Given the description of an element on the screen output the (x, y) to click on. 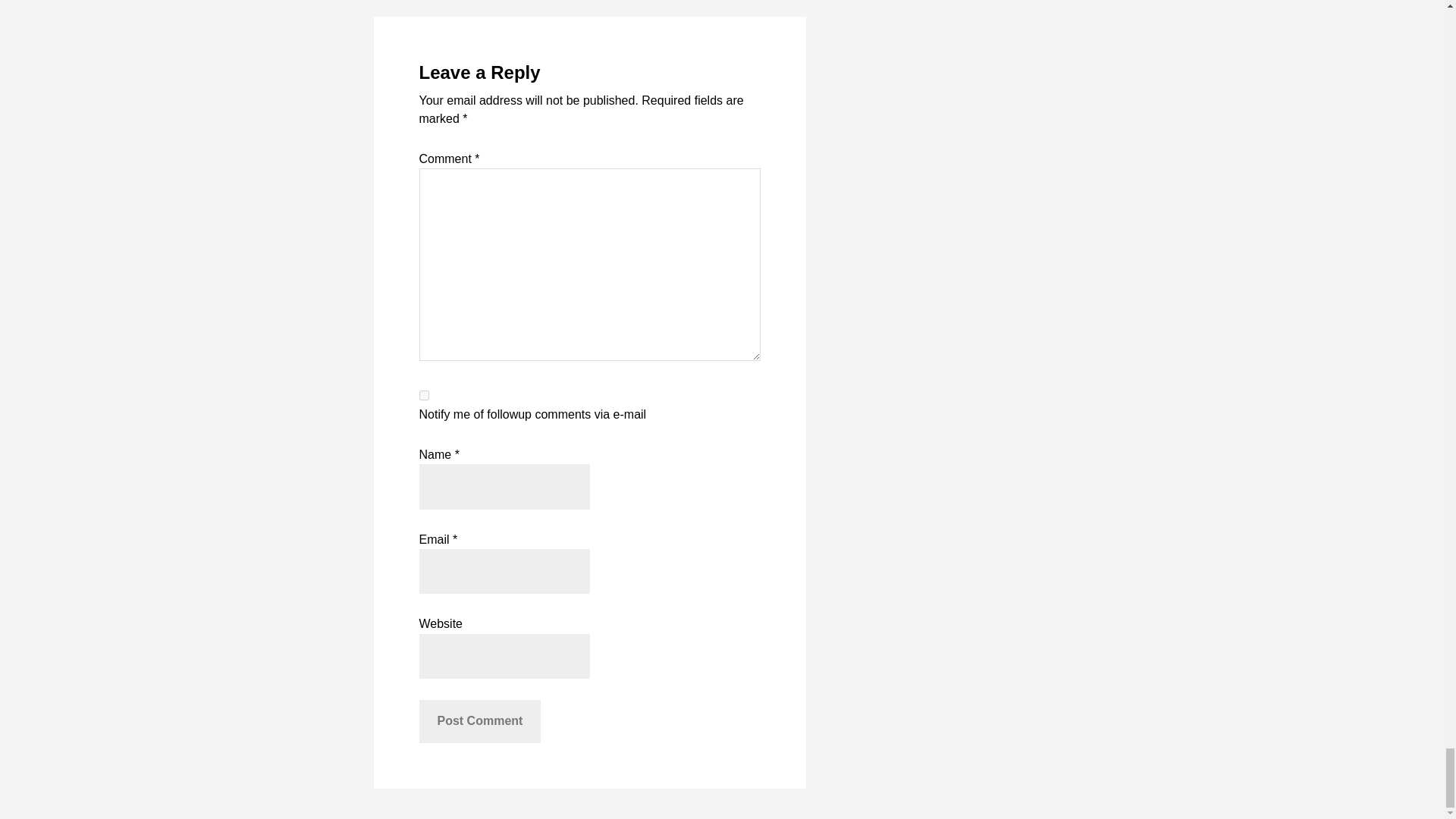
Post Comment (479, 721)
subscribe (423, 395)
